Given the description of an element on the screen output the (x, y) to click on. 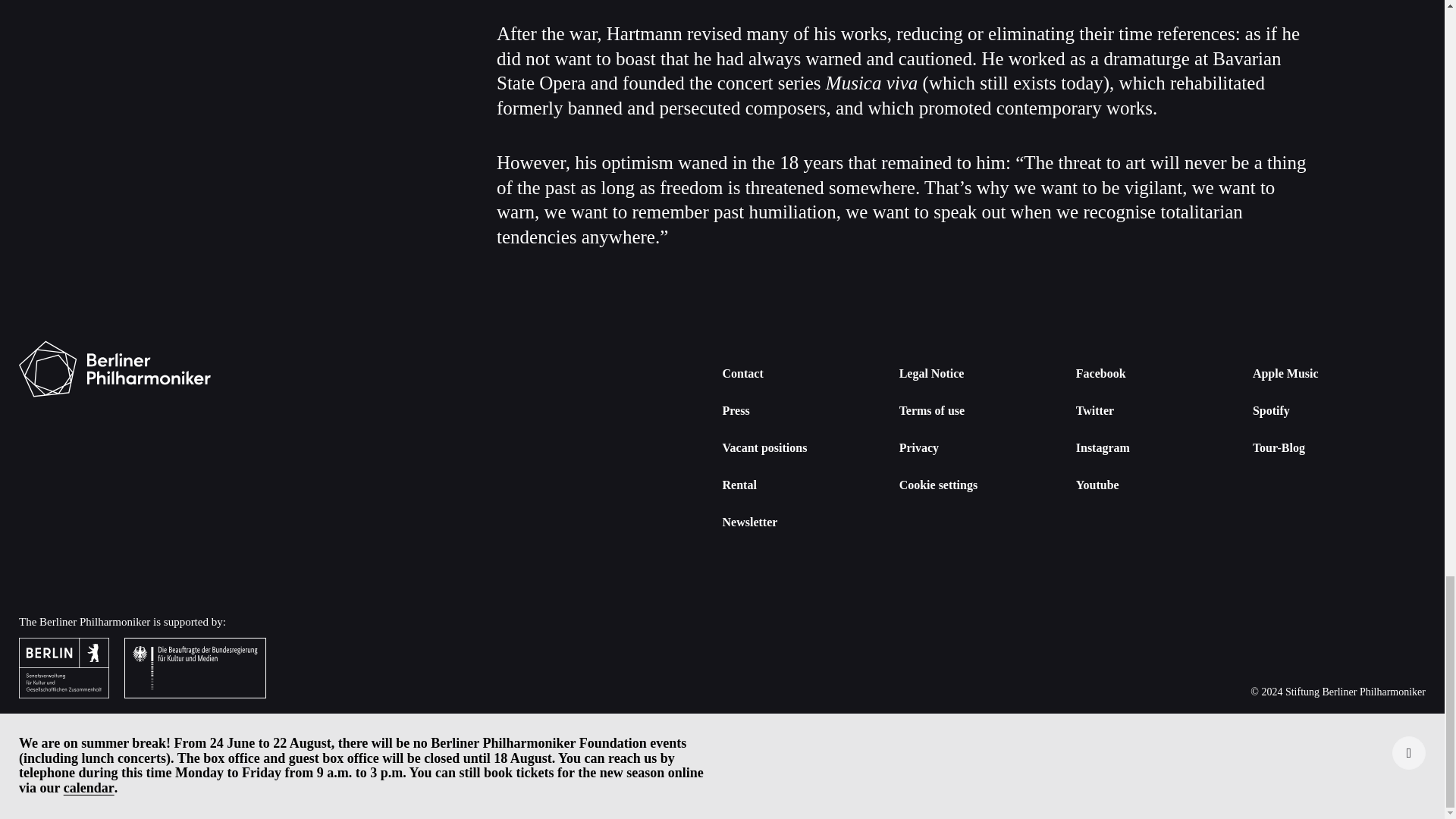
Berliner Philharmoniker (114, 368)
